Given the description of an element on the screen output the (x, y) to click on. 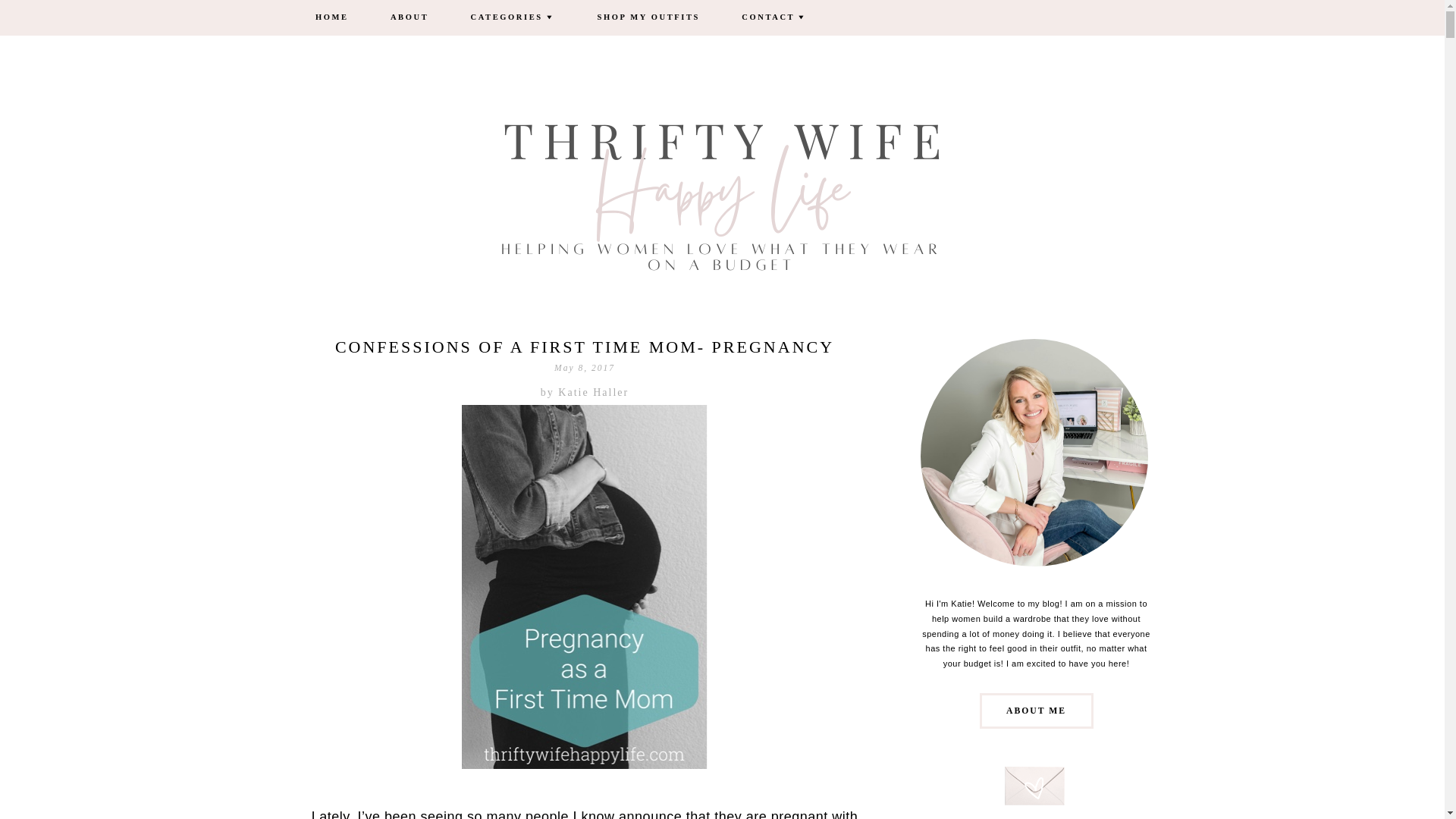
SHOP MY OUTFITS (648, 18)
CATEGORIES (512, 18)
HOME (332, 18)
CONTACT (774, 18)
CONFESSIONS OF A FIRST TIME MOM- PREGNANCY (584, 346)
ABOUT (408, 18)
